Given the description of an element on the screen output the (x, y) to click on. 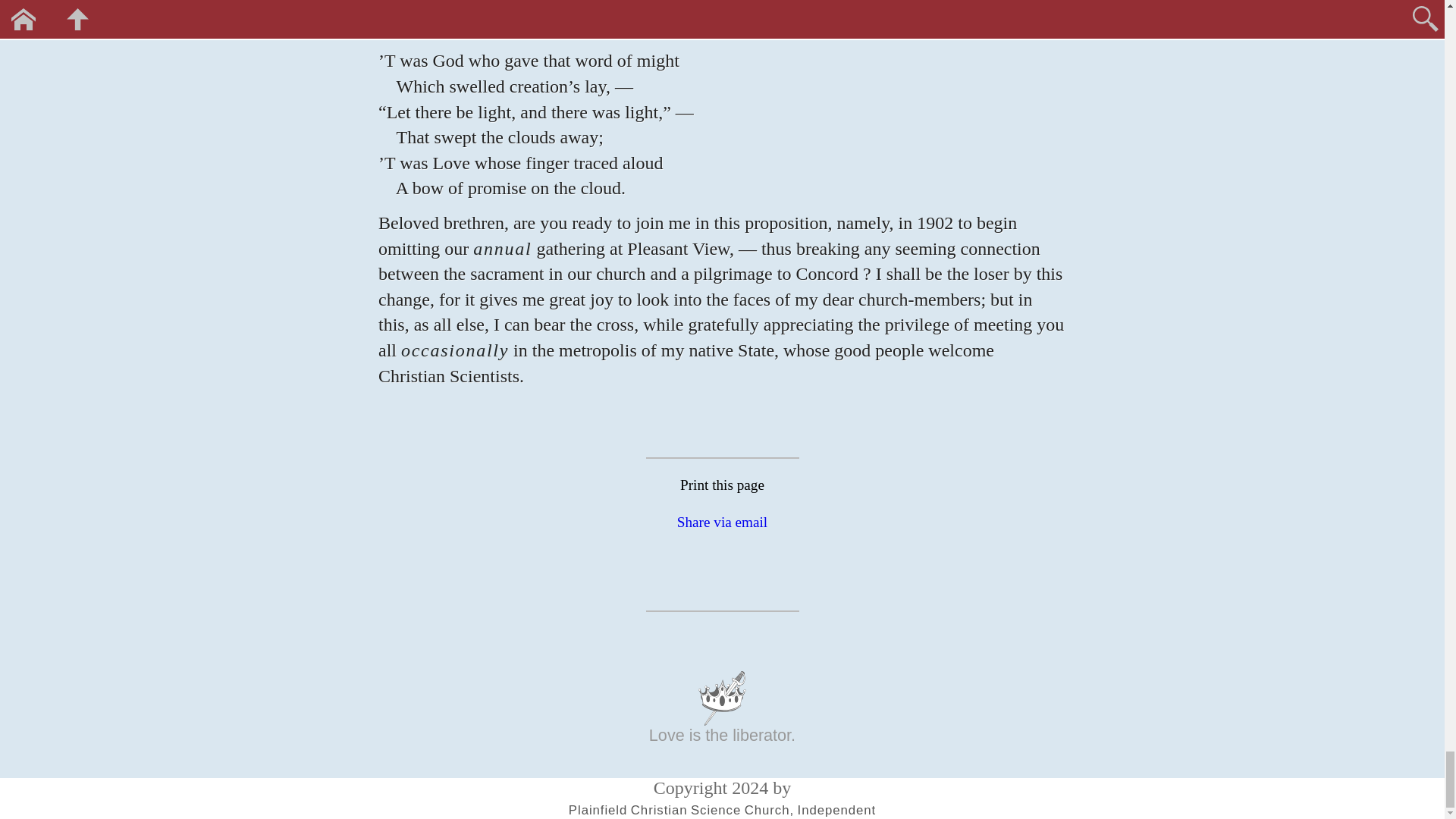
Email this article to a friend. (722, 521)
